Given the description of an element on the screen output the (x, y) to click on. 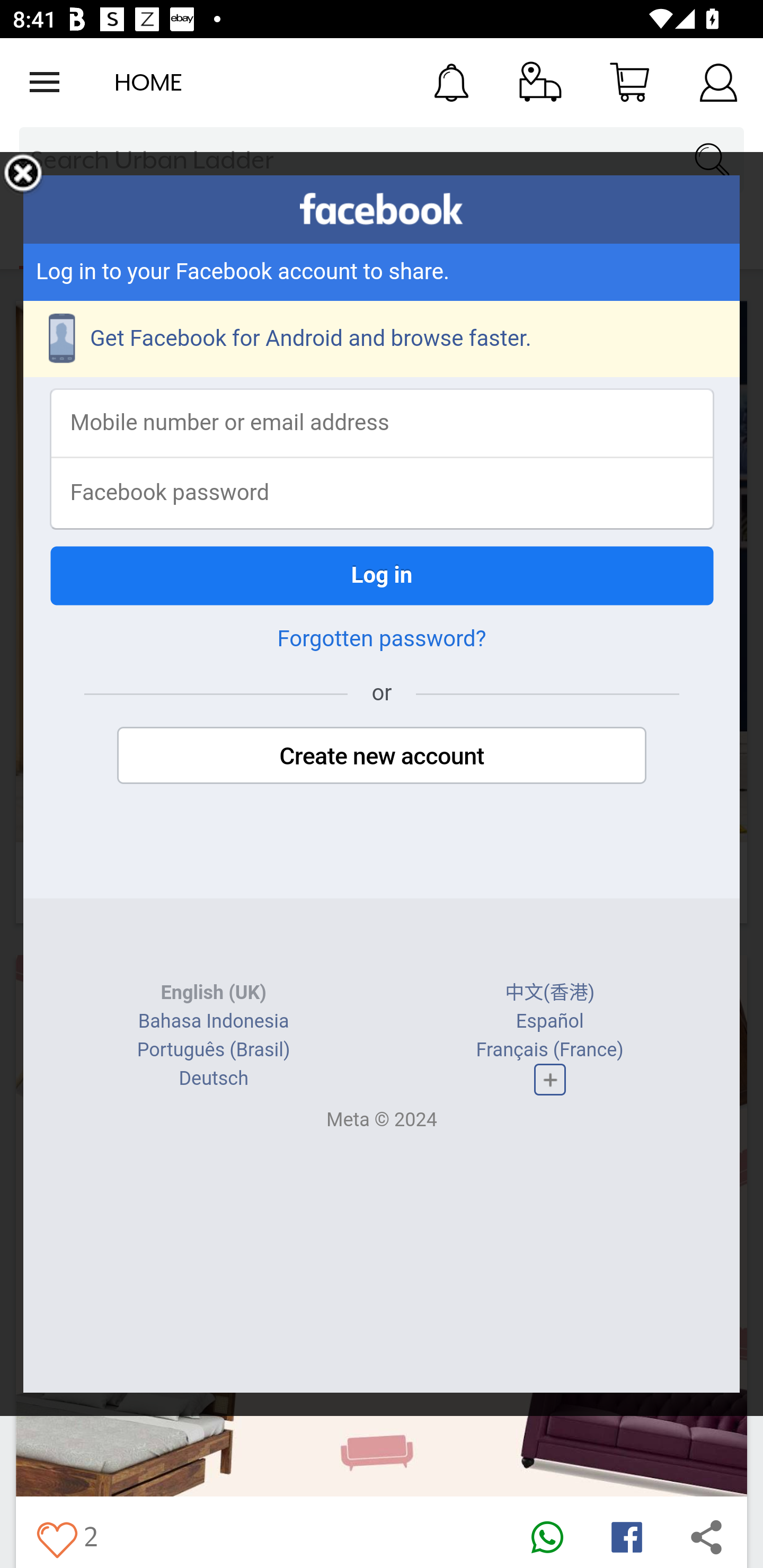
facebook (381, 208)
Get Facebook for Android and browse faster. (381, 339)
Log in (381, 575)
Forgotten password? (381, 638)
Create new account (381, 755)
中文(香港) (550, 993)
Bahasa Indonesia (214, 1021)
Español (549, 1021)
Português (Brasil) (212, 1049)
Français (France) (549, 1049)
Complete list of languages (548, 1079)
Deutsch (212, 1078)
